Given the description of an element on the screen output the (x, y) to click on. 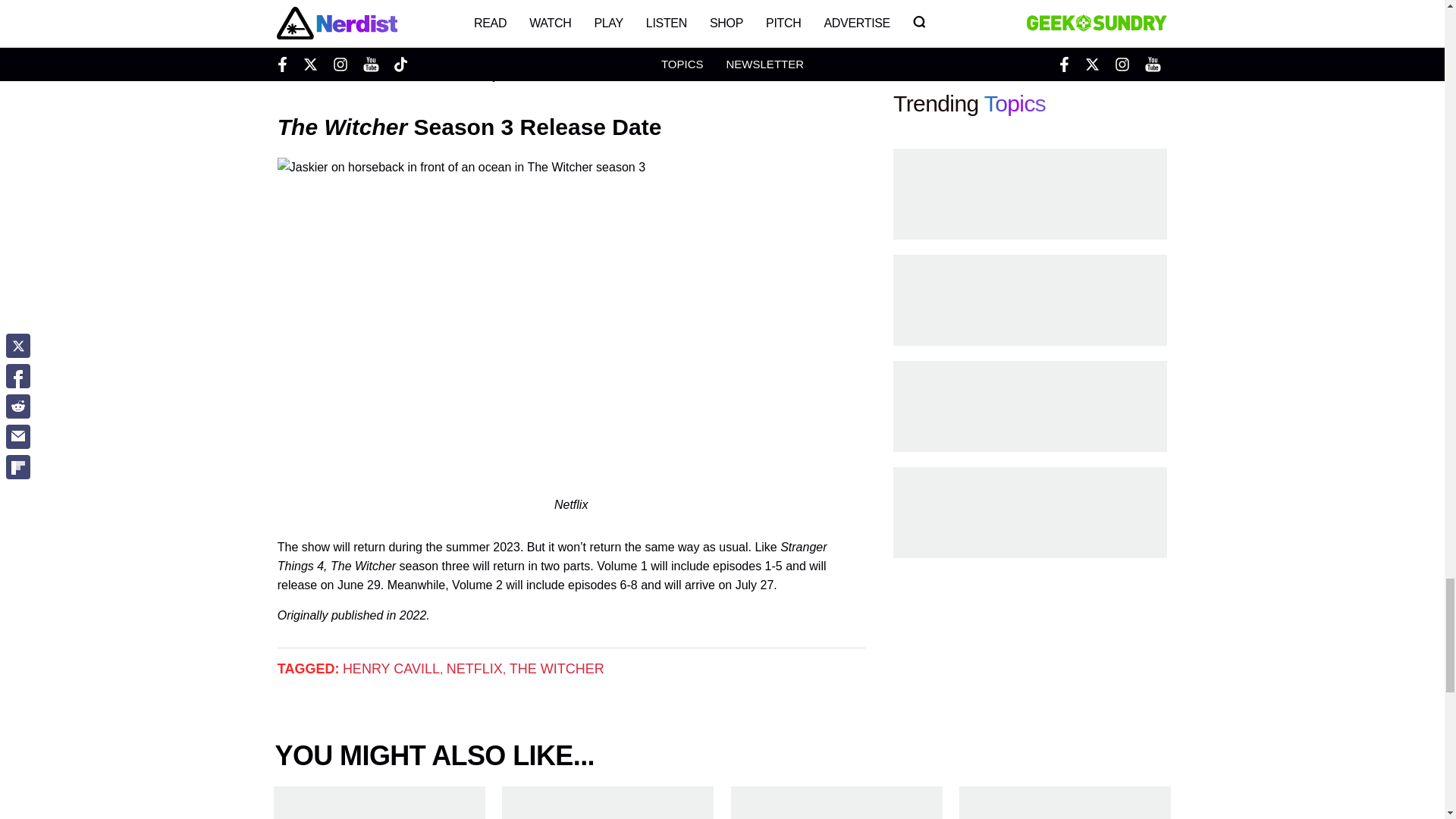
HENRY CAVILL (390, 668)
THE WITCHER (556, 668)
NETFLIX (474, 668)
